Given the description of an element on the screen output the (x, y) to click on. 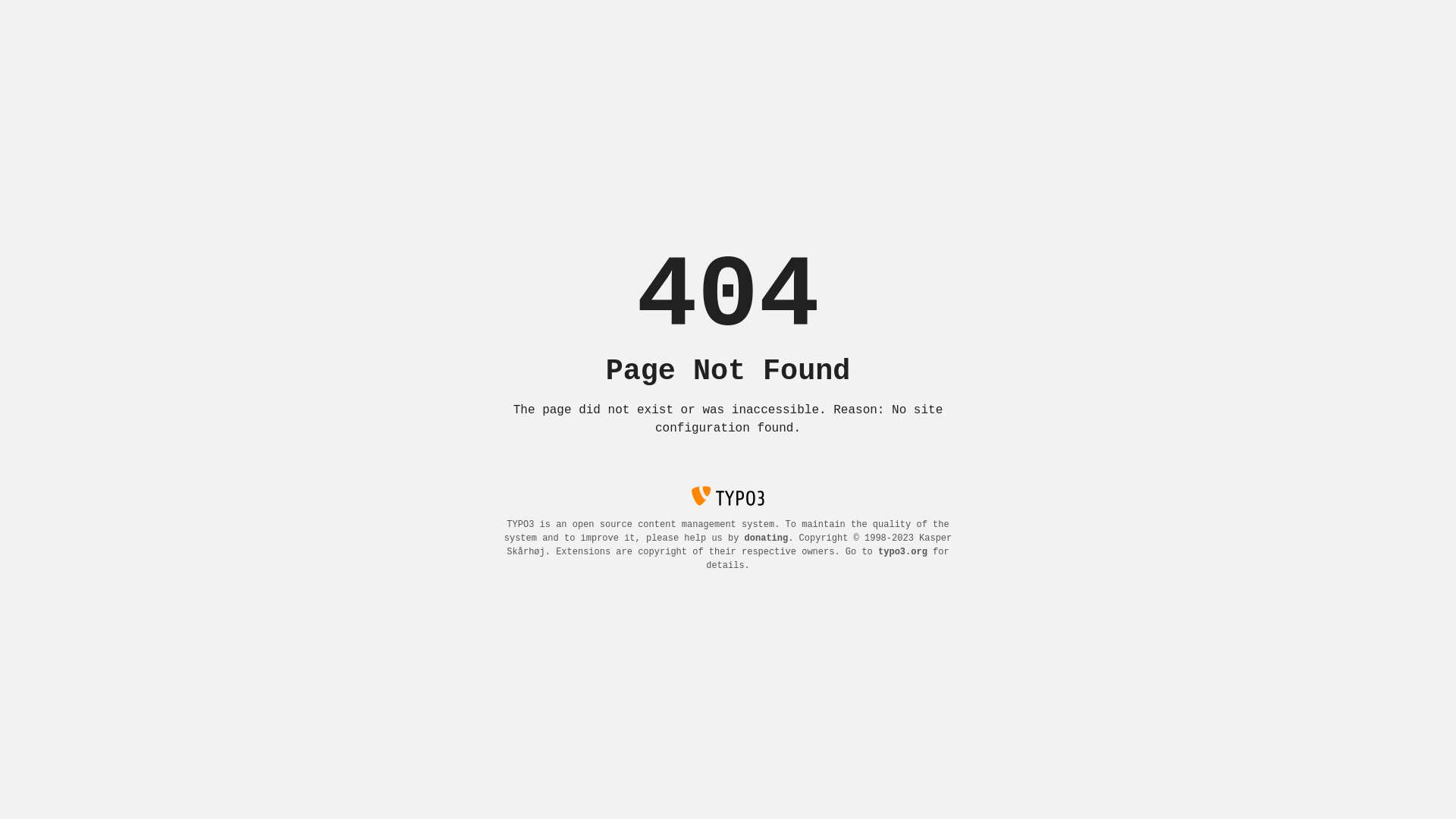
typo3.org Element type: text (902, 551)
donating Element type: text (766, 538)
